Given the description of an element on the screen output the (x, y) to click on. 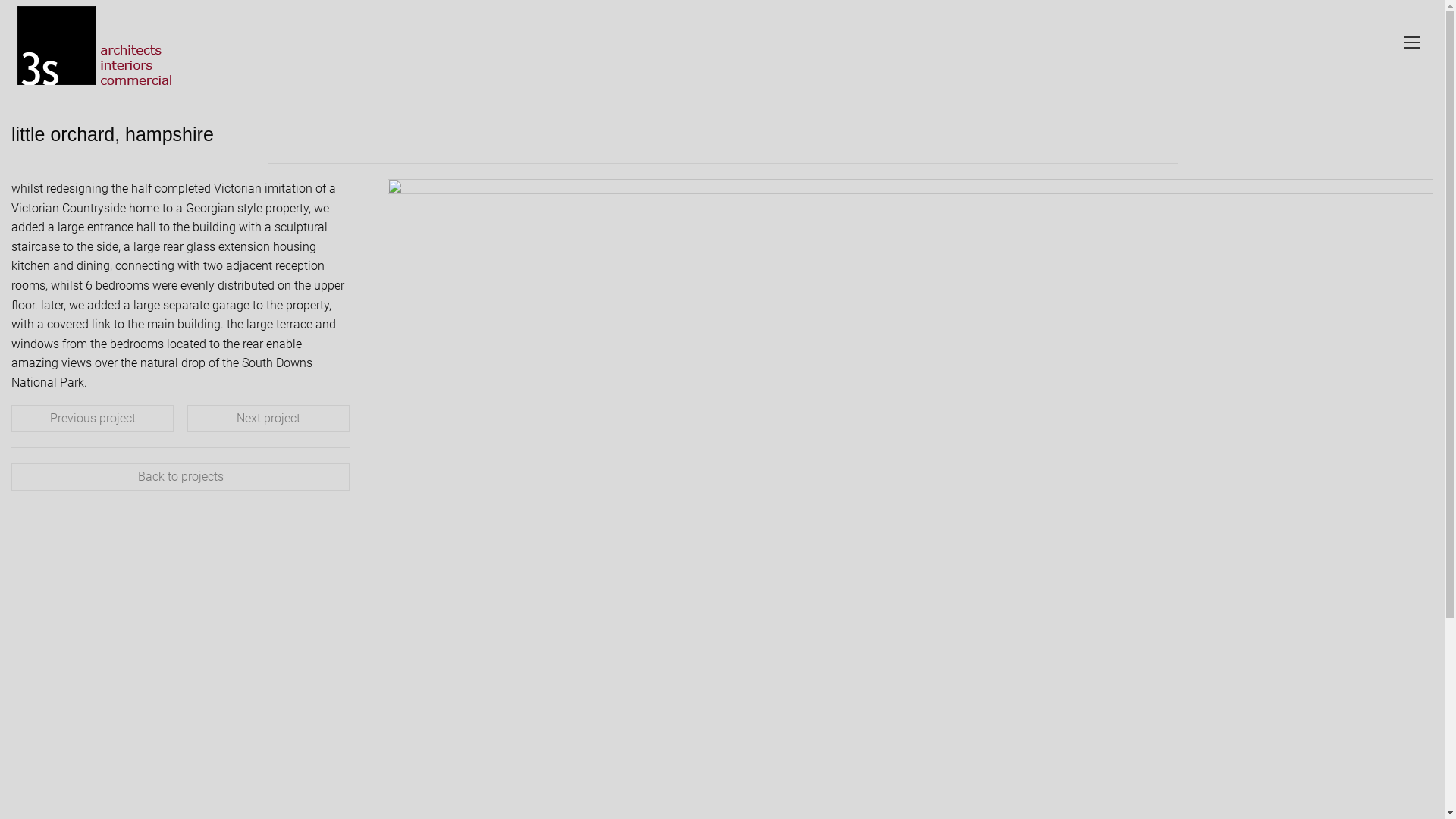
Previous project Element type: text (92, 418)
Back to projects Element type: text (180, 476)
Next project Element type: text (268, 418)
